Given the description of an element on the screen output the (x, y) to click on. 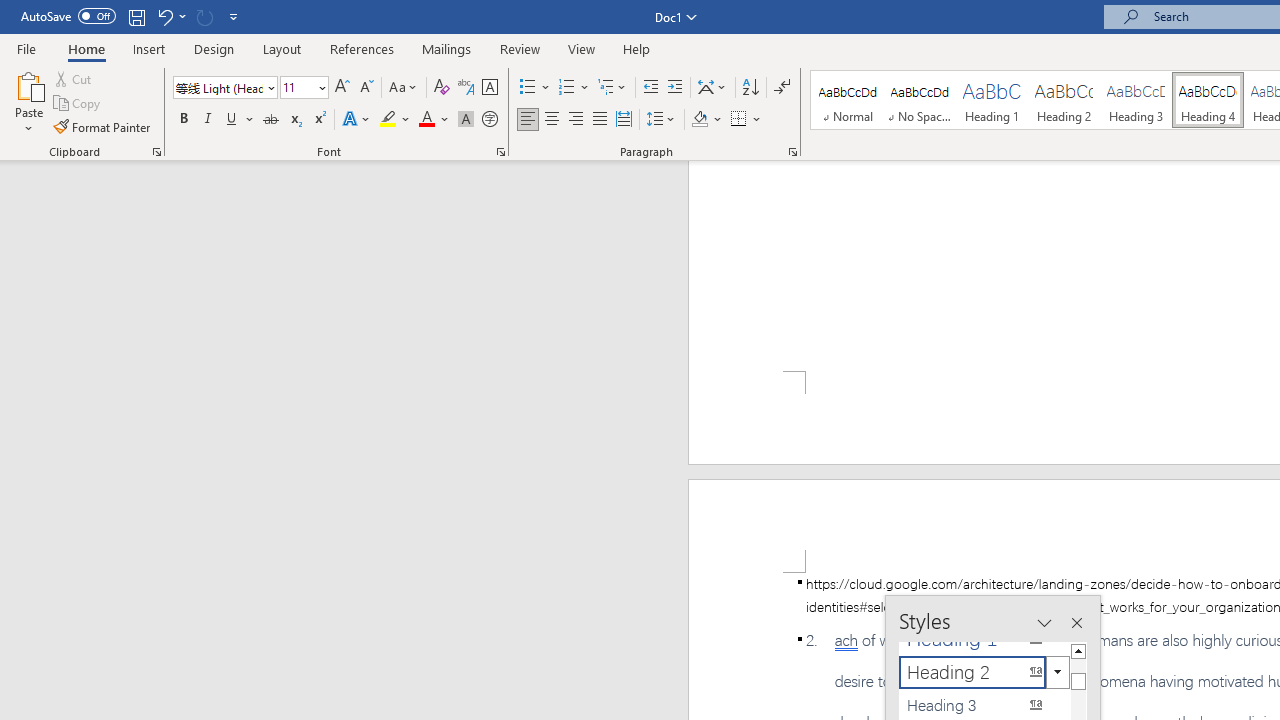
Font Color Automatic (426, 119)
Can't Repeat (204, 15)
Heading 1 (991, 100)
